Given the description of an element on the screen output the (x, y) to click on. 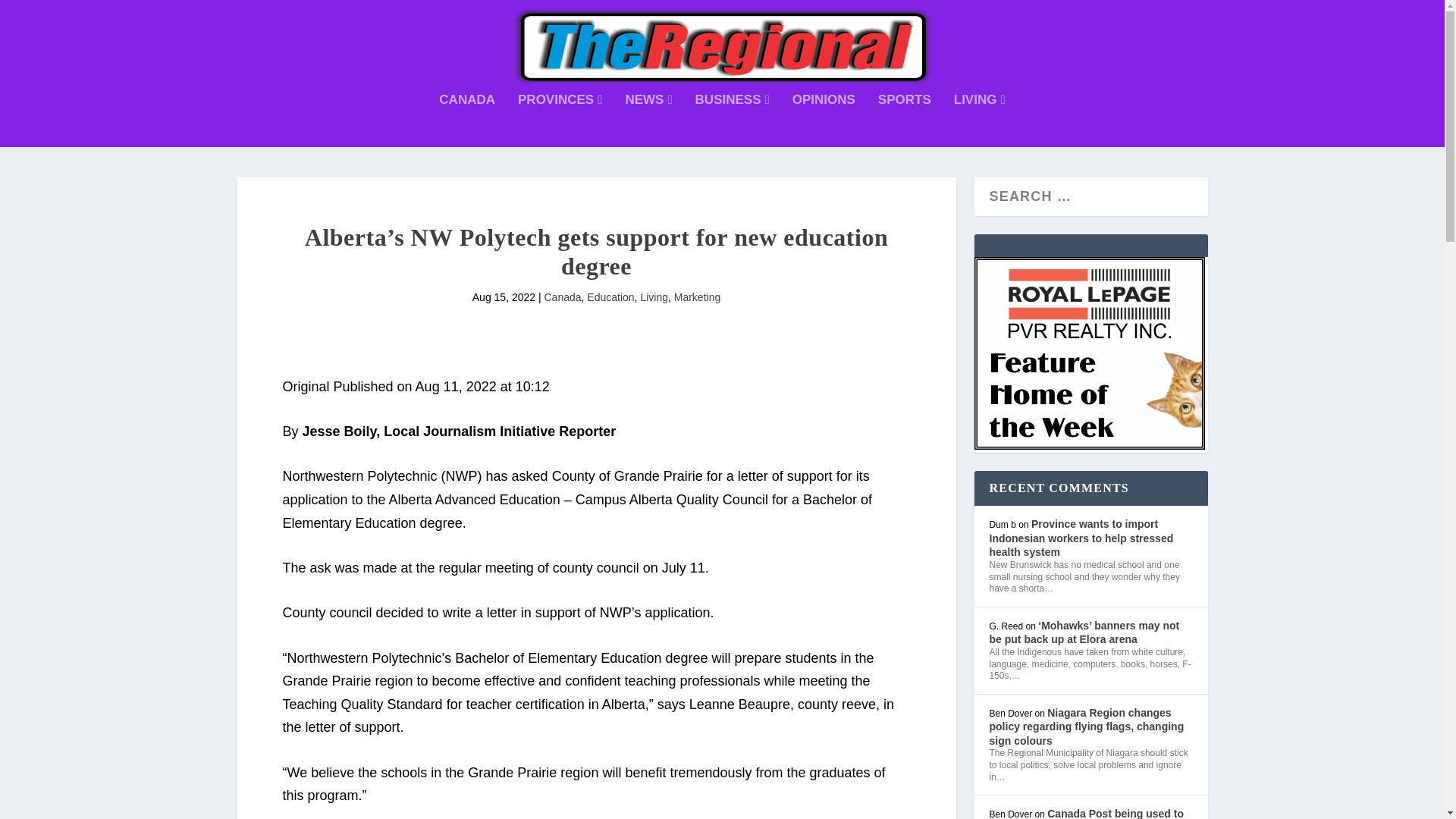
CANADA (467, 120)
PROVINCES (560, 120)
LIVING (979, 120)
OPINIONS (824, 120)
SPORTS (904, 120)
BUSINESS (732, 120)
